Given the description of an element on the screen output the (x, y) to click on. 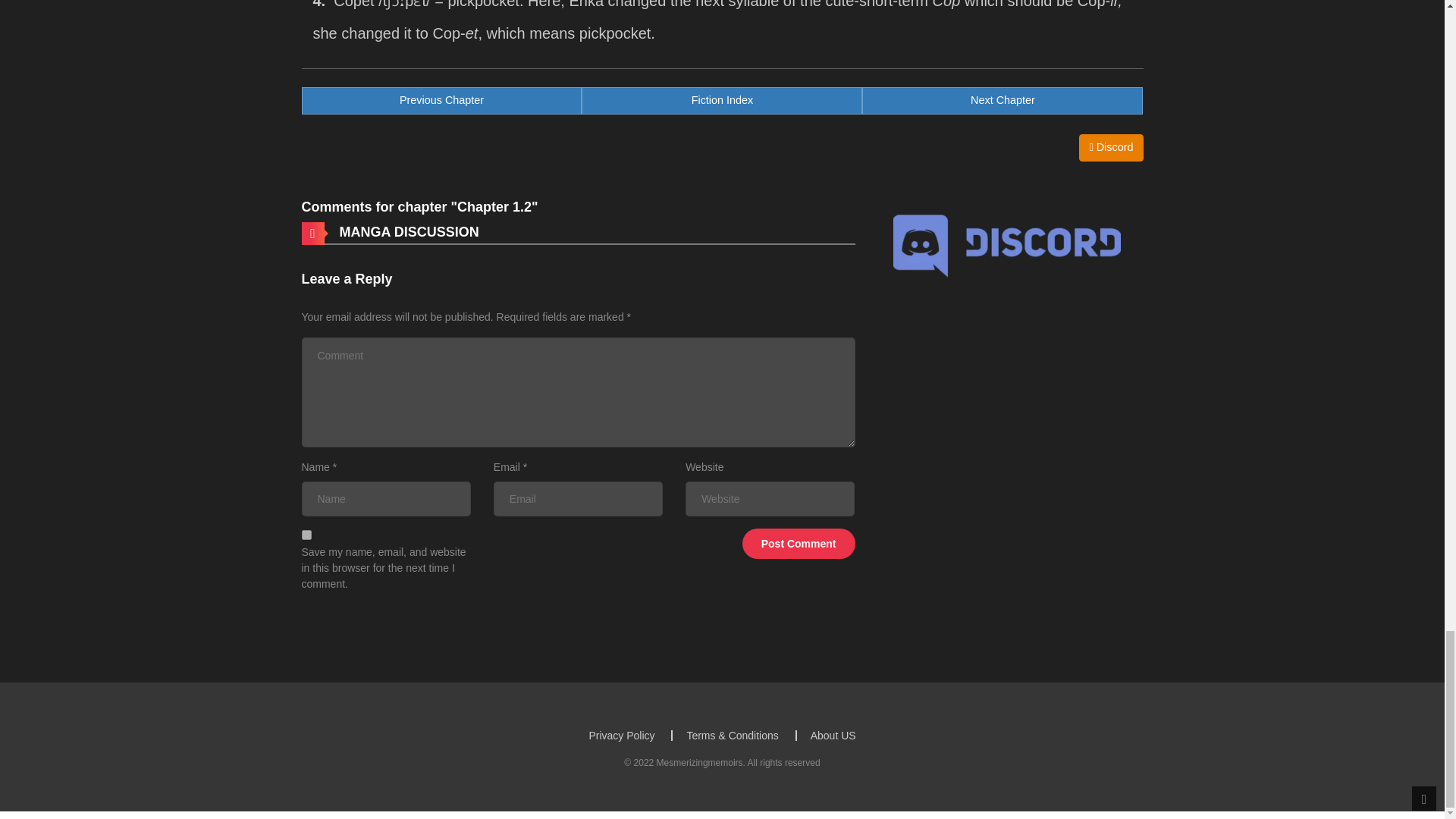
Discord (1110, 147)
Post Comment (799, 543)
Privacy Policy (720, 100)
yes (620, 735)
About US (1001, 100)
Post Comment (306, 534)
